Given the description of an element on the screen output the (x, y) to click on. 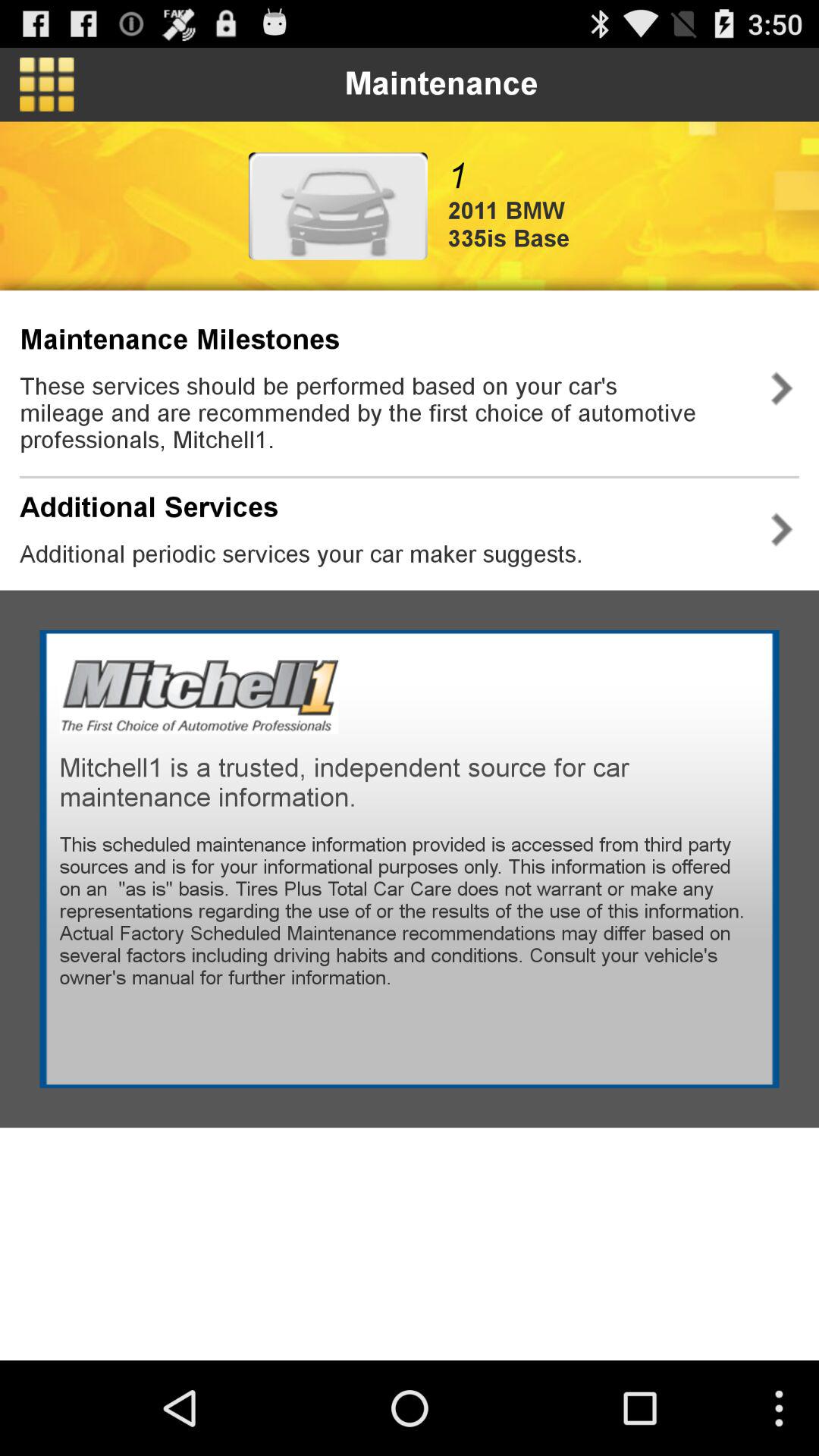
choose the icon above these services should app (179, 340)
